Given the description of an element on the screen output the (x, y) to click on. 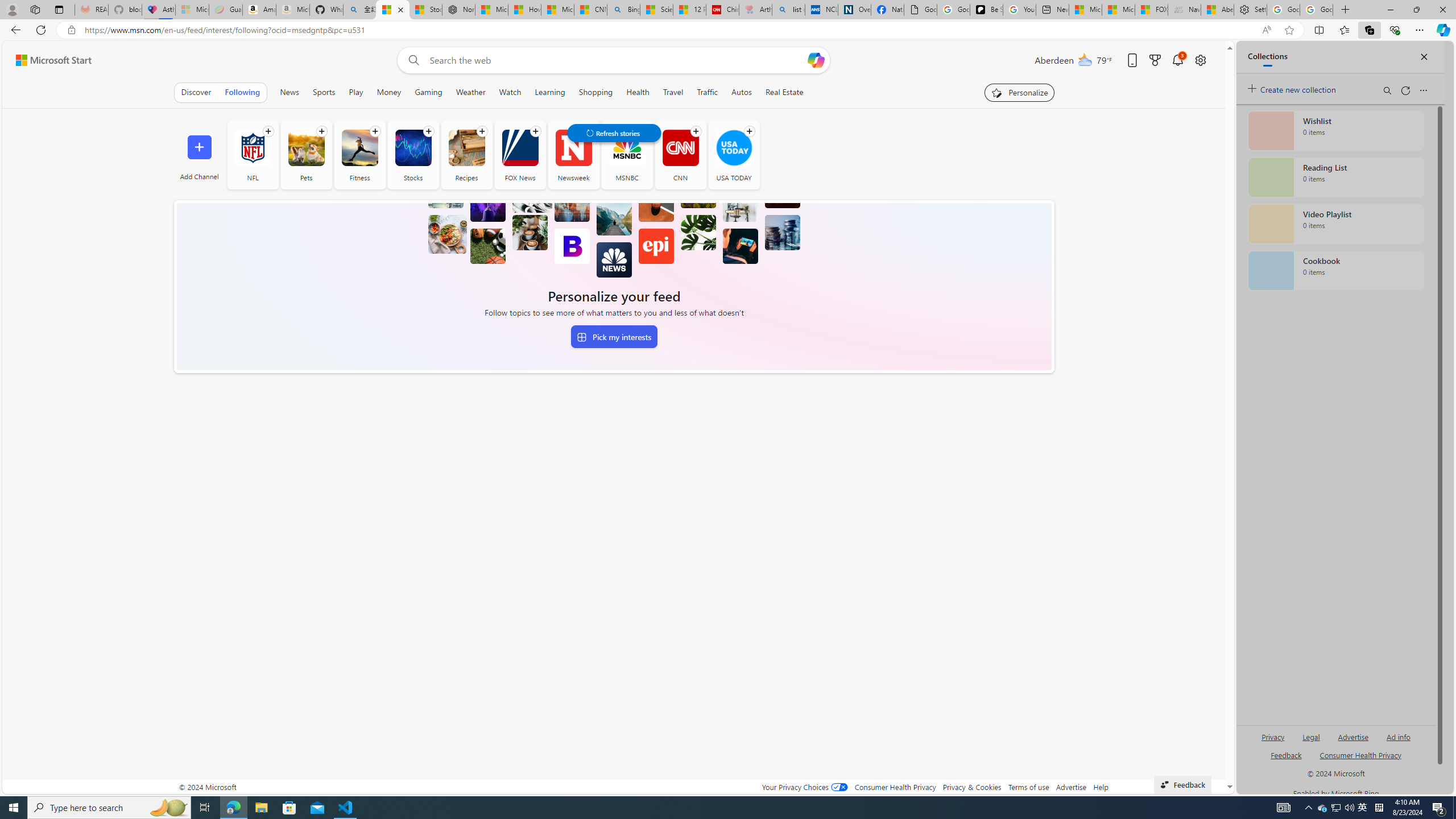
FOX News (519, 155)
Real Estate (784, 92)
Follow channel (749, 130)
Weather (470, 92)
Bing (623, 9)
CNN (680, 155)
USA TODAY (733, 147)
Real Estate (784, 92)
Travel (672, 92)
Asthma Inhalers: Names and Types (158, 9)
